Given the description of an element on the screen output the (x, y) to click on. 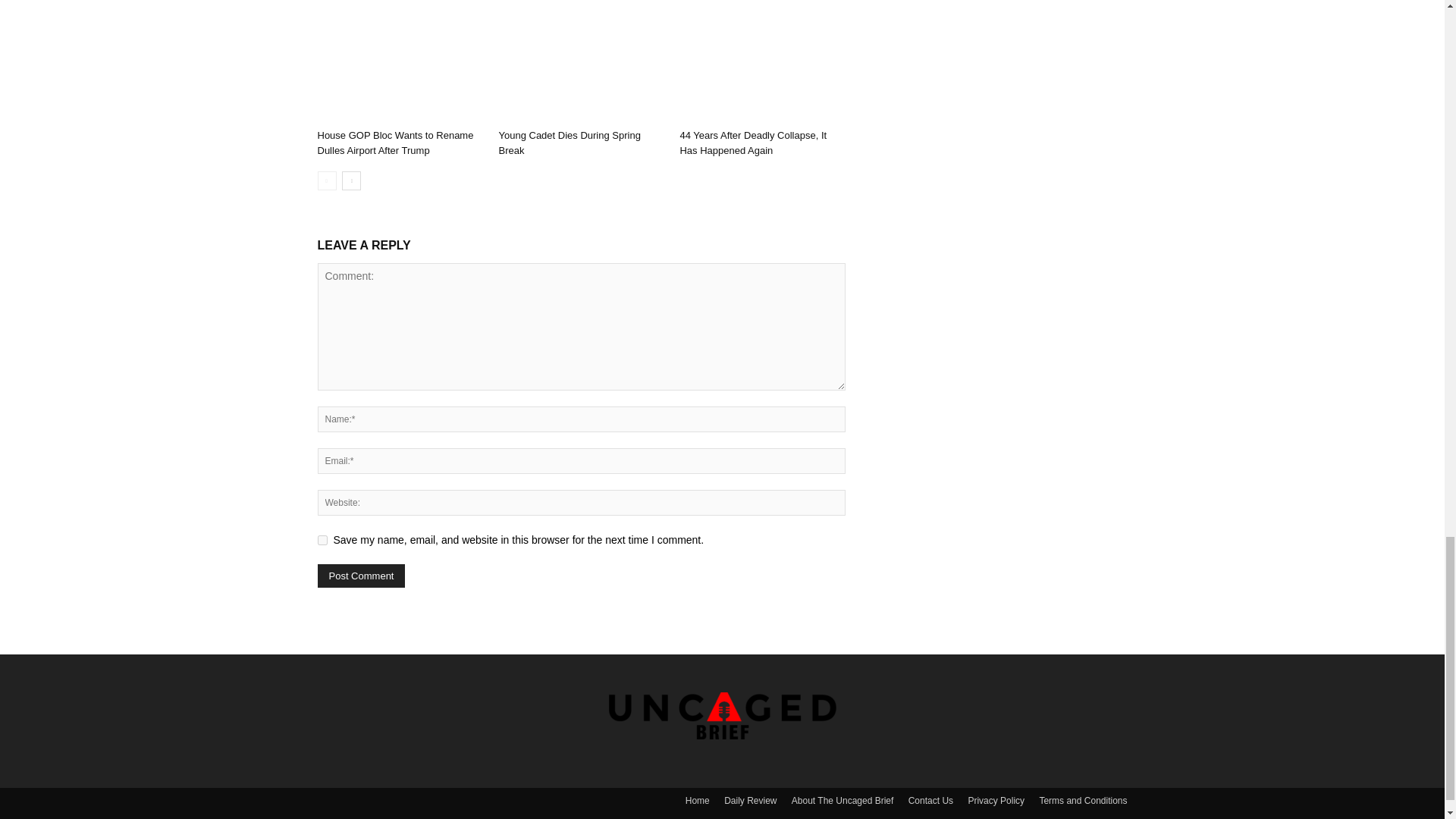
House GOP Bloc Wants to Rename Dulles Airport After Trump (399, 65)
yes (321, 540)
Post Comment (360, 576)
